Given the description of an element on the screen output the (x, y) to click on. 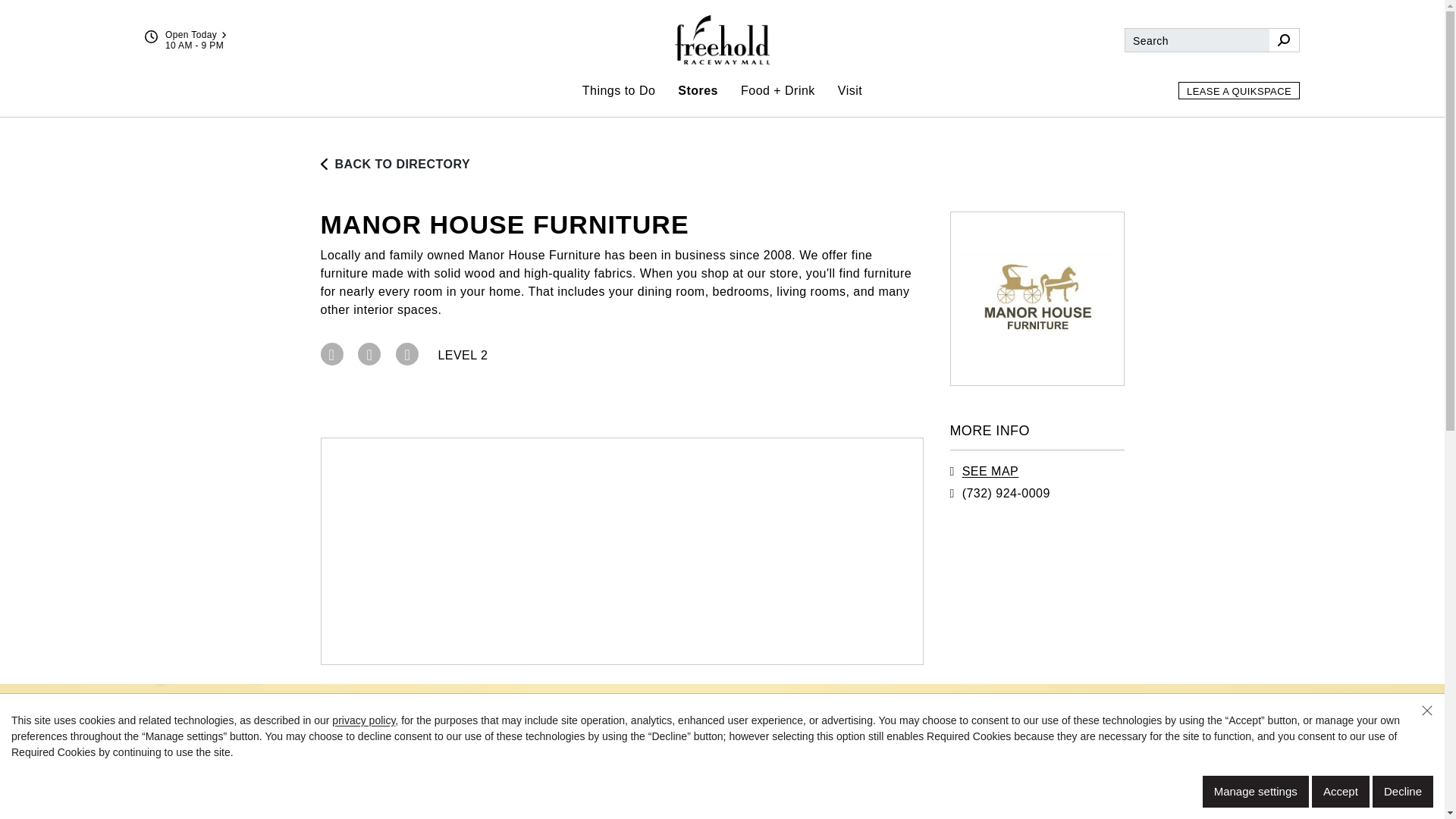
LEASE A QUIKSPACE (1238, 90)
Stores (697, 90)
Open Today (196, 34)
Things to Do (618, 90)
LEASE A QUIKSPACE (1238, 90)
